Given the description of an element on the screen output the (x, y) to click on. 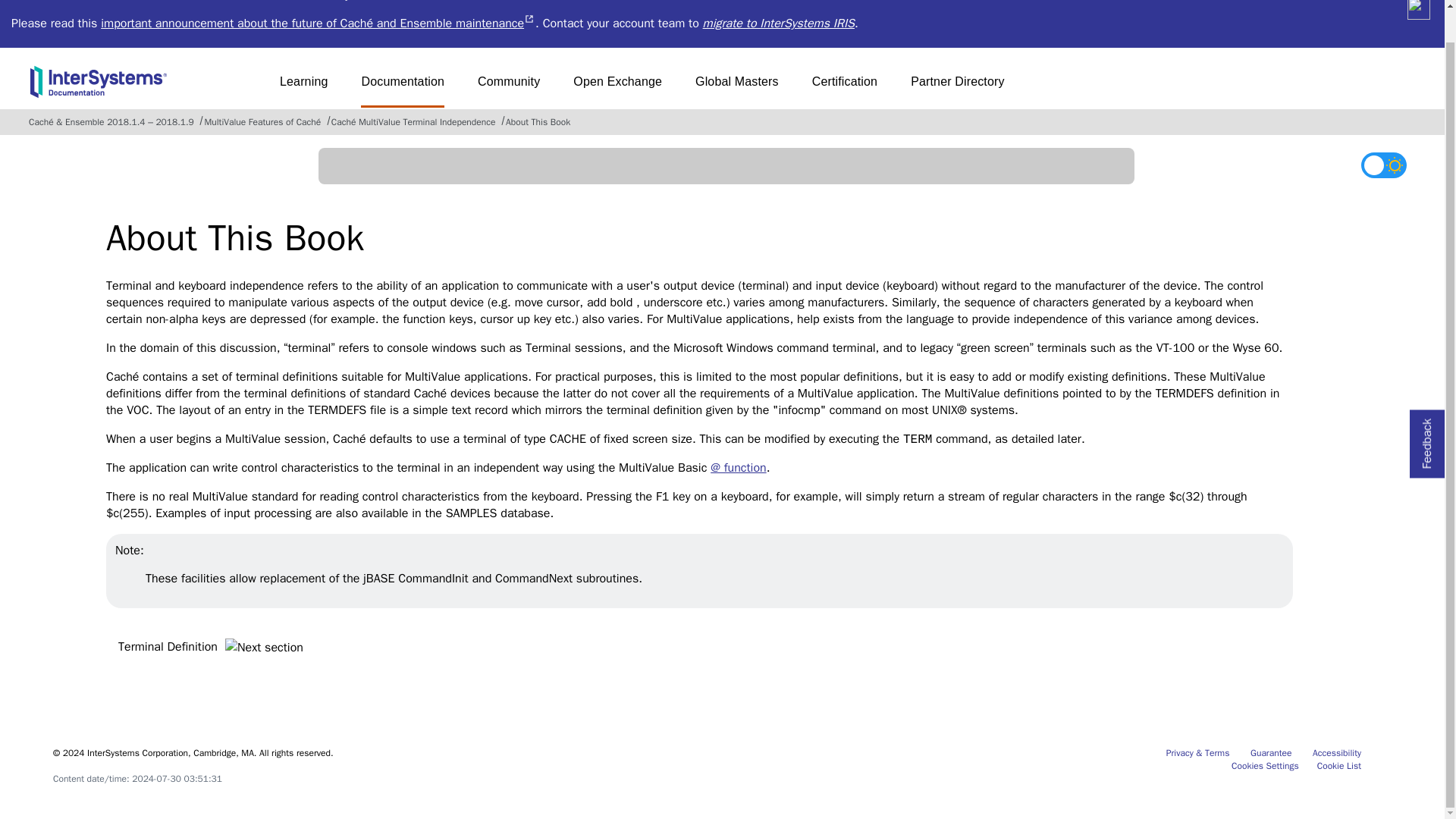
Cookies Settings (1264, 766)
About This Book (537, 121)
Open Exchange (617, 87)
Certification (1337, 752)
migrate to InterSystems IRIS (844, 87)
Partner Directory (1270, 752)
Cookie List (778, 23)
Learning (957, 87)
Documentation (1339, 766)
Global Masters (1216, 752)
